Given the description of an element on the screen output the (x, y) to click on. 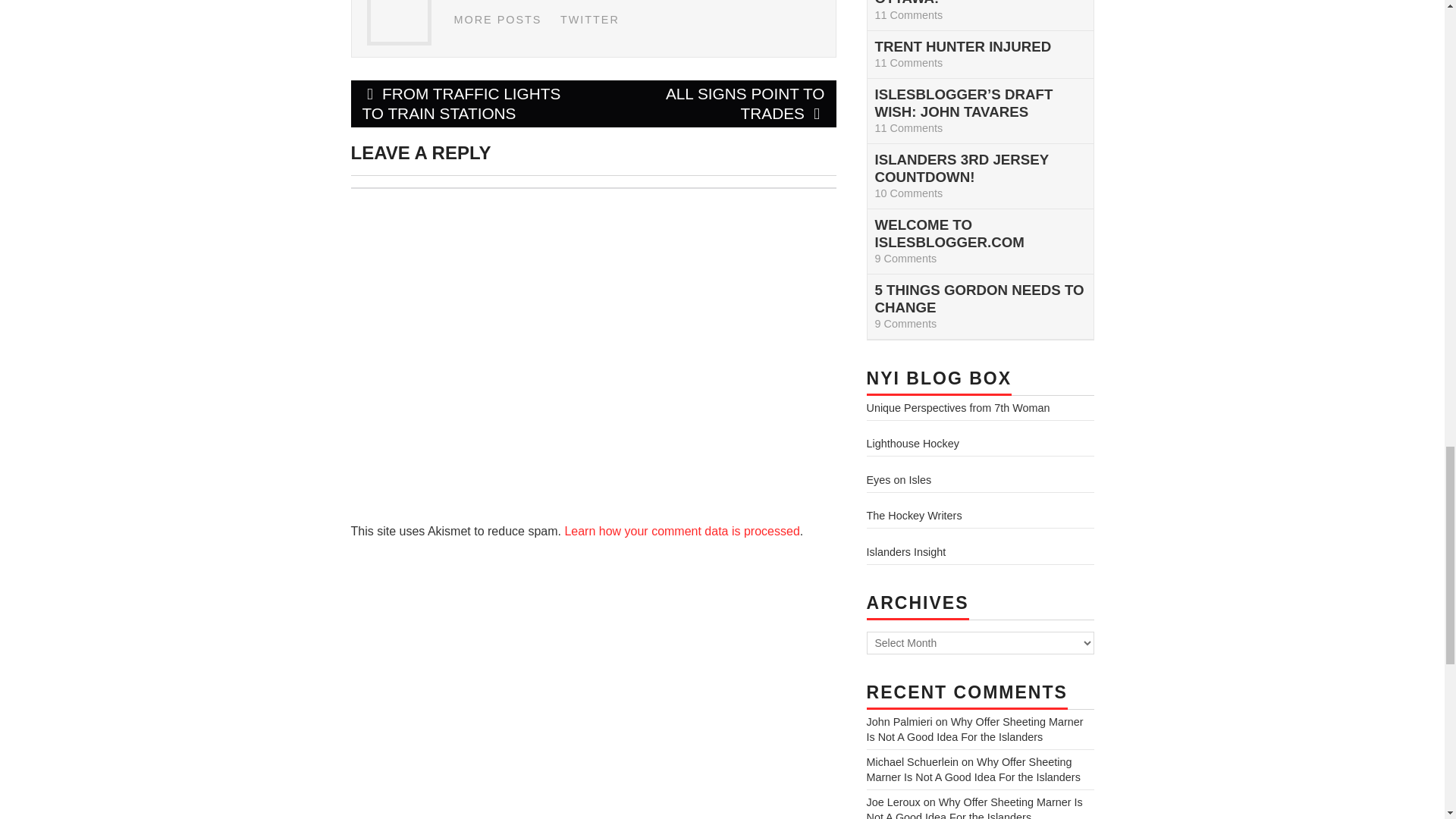
Learn how your comment data is processed (681, 530)
FROM TRAFFIC LIGHTS TO TRAIN STATIONS (471, 103)
ALL SIGNS POINT TO TRADES (713, 103)
TWITTER (590, 19)
MORE POSTS (496, 19)
